Given the description of an element on the screen output the (x, y) to click on. 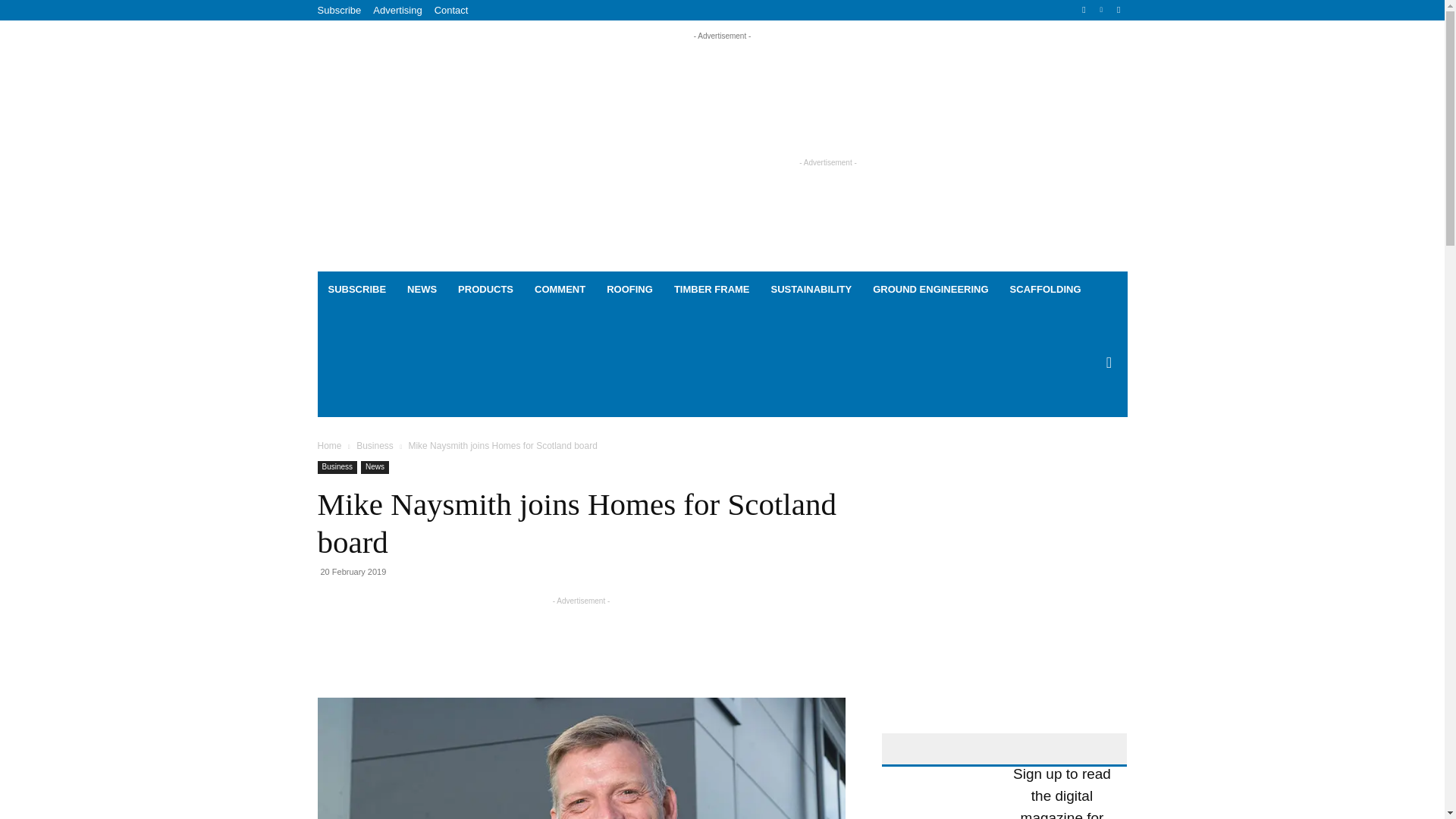
Twitter (1117, 9)
SCAFFOLDING (1045, 289)
PRODUCTS (485, 289)
Subscribe (339, 9)
TIMBER FRAME (711, 289)
Advertising (397, 9)
Contact (450, 9)
ROOFING (629, 289)
SUSTAINABILITY (811, 289)
NEWS (421, 289)
